Given the description of an element on the screen output the (x, y) to click on. 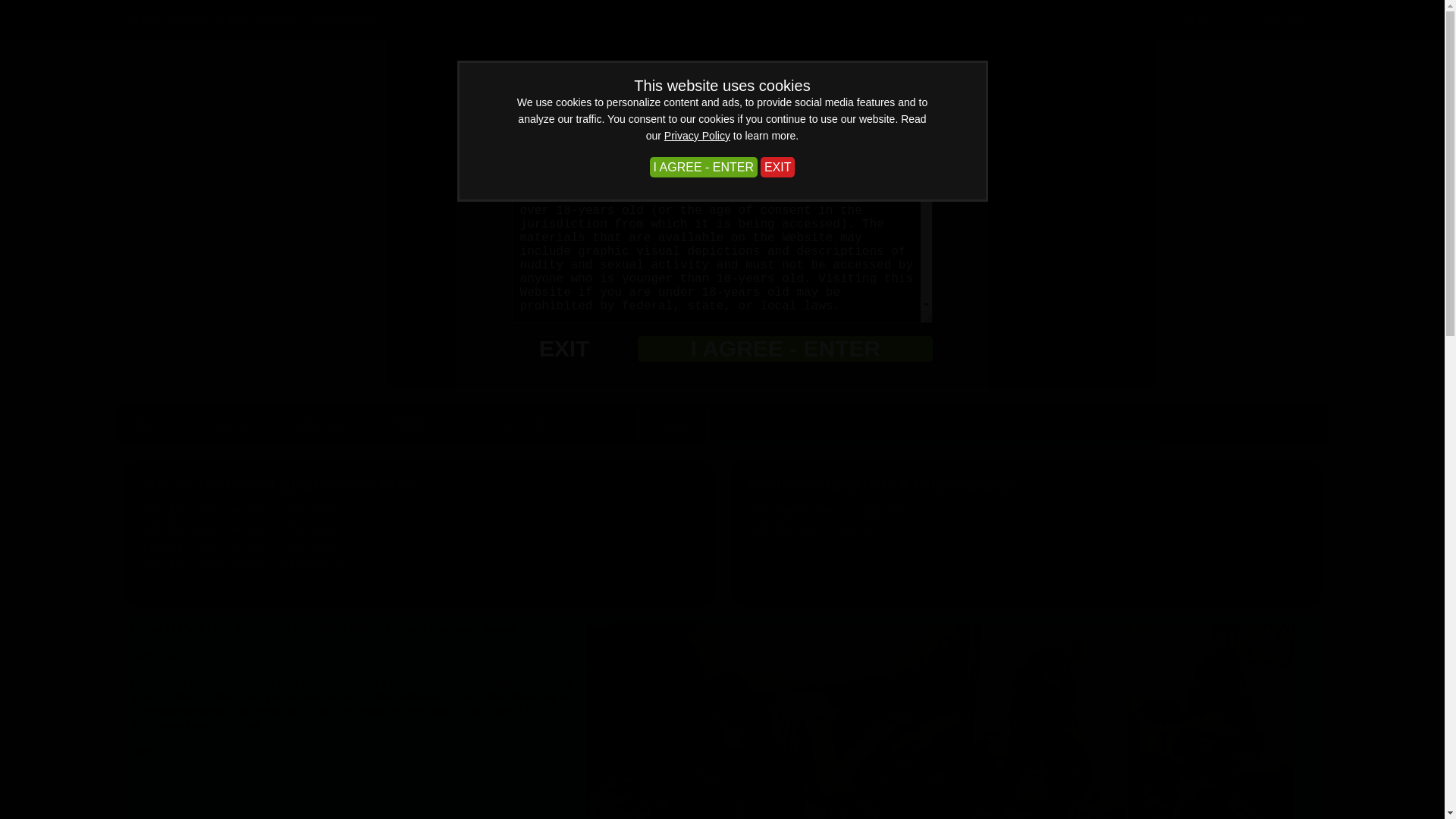
Amy Green (387, 564)
Body - Tan Lines (370, 751)
Customs Available (975, 510)
Jenny James (388, 528)
10-29 Denier Sheer (282, 751)
Customs Available (950, 528)
Brook Logan (387, 546)
Categories (319, 423)
Models (408, 423)
Store (671, 423)
